Given the description of an element on the screen output the (x, y) to click on. 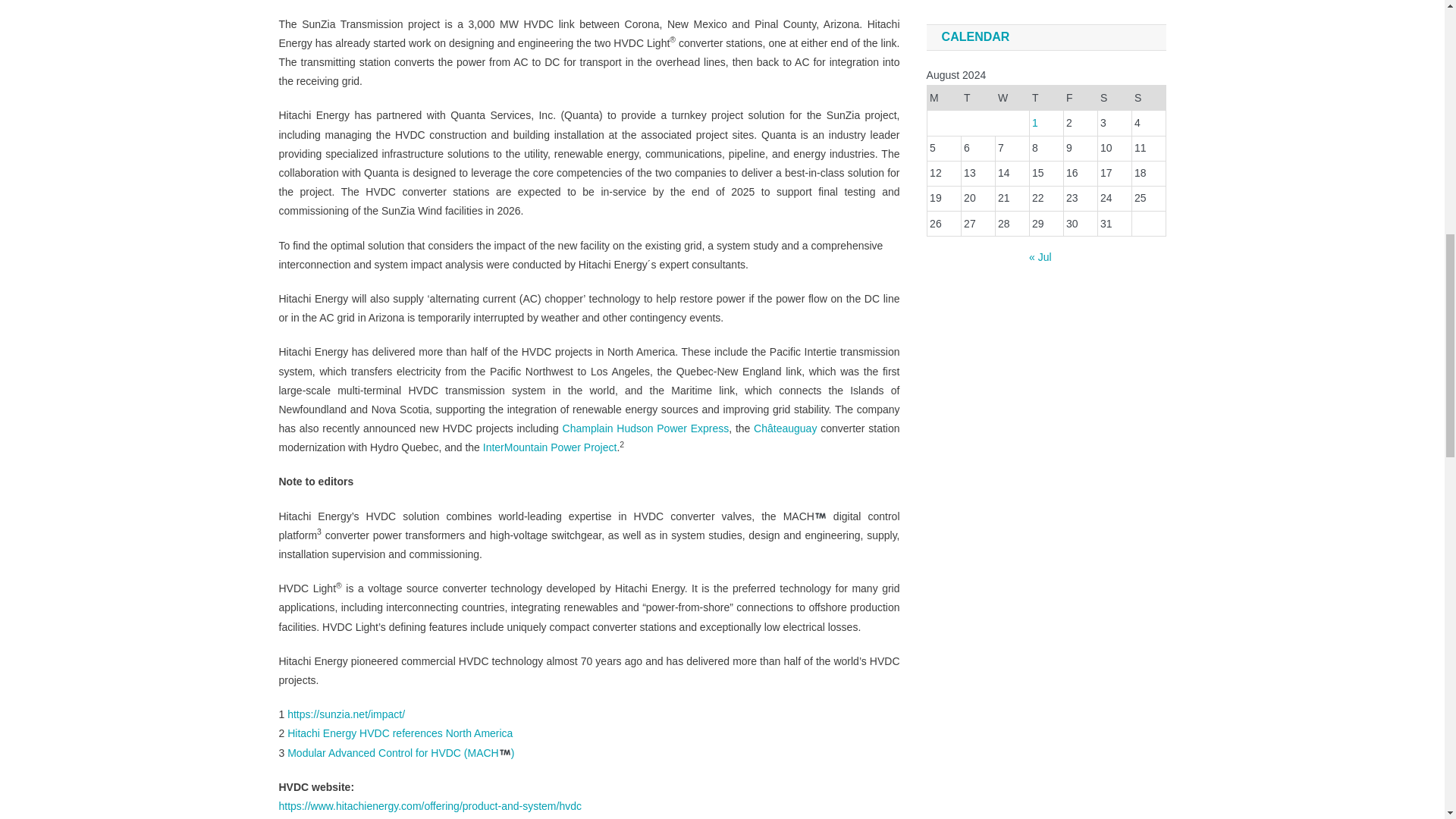
Friday (1079, 97)
Tuesday (977, 97)
Wednesday (1011, 97)
Hitachi Energy HVDC references North America (399, 733)
Thursday (1045, 97)
InterMountain Power Project (550, 447)
Monday (943, 97)
Sunday (1148, 97)
Saturday (1114, 97)
Champlain Hudson Power Express (645, 428)
